Given the description of an element on the screen output the (x, y) to click on. 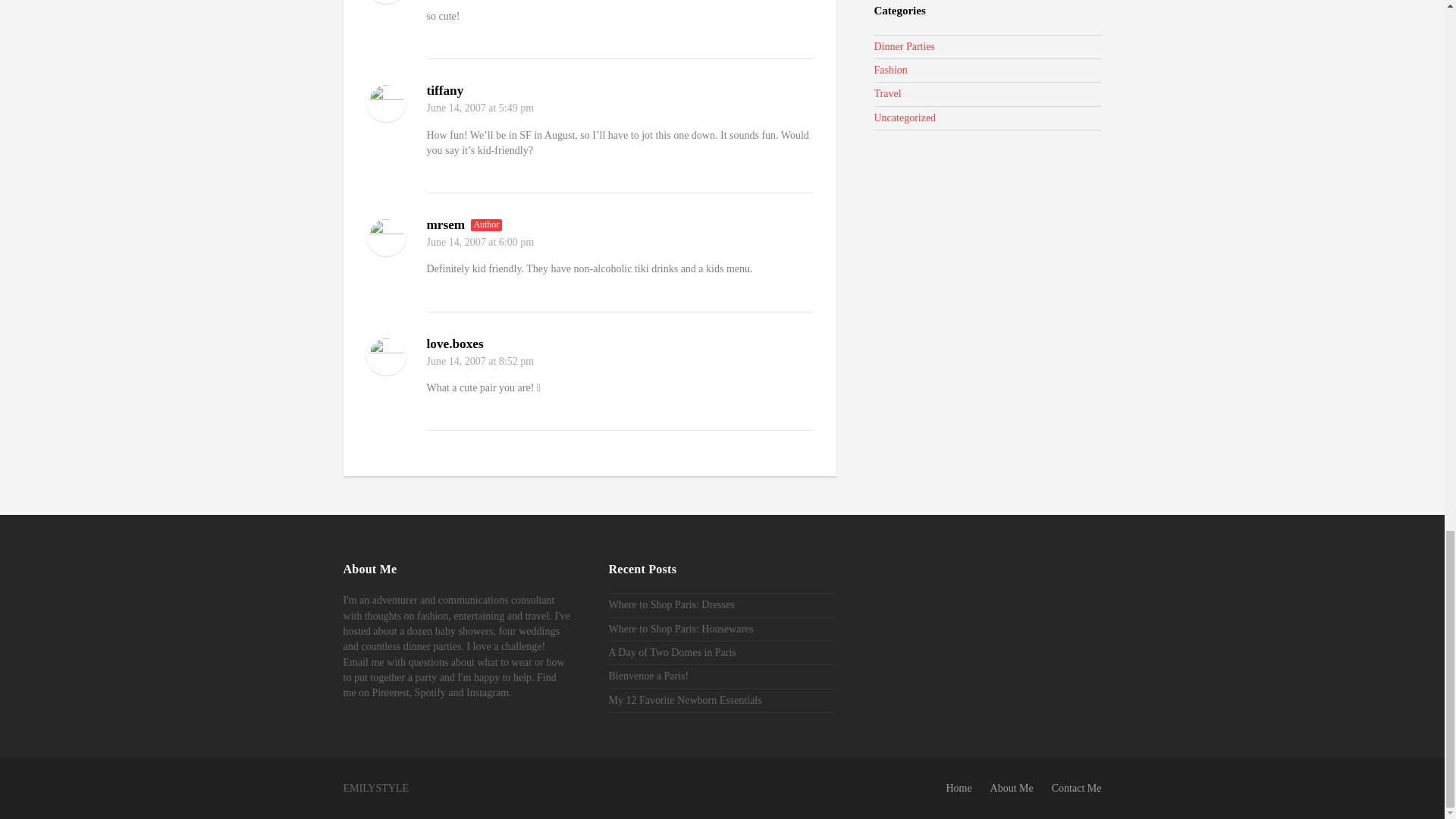
June 14, 2007 (455, 107)
June 14, 2007 (455, 242)
mrsem (445, 224)
tiffany (444, 90)
love.boxes (454, 343)
June 14, 2007 (455, 360)
